Given the description of an element on the screen output the (x, y) to click on. 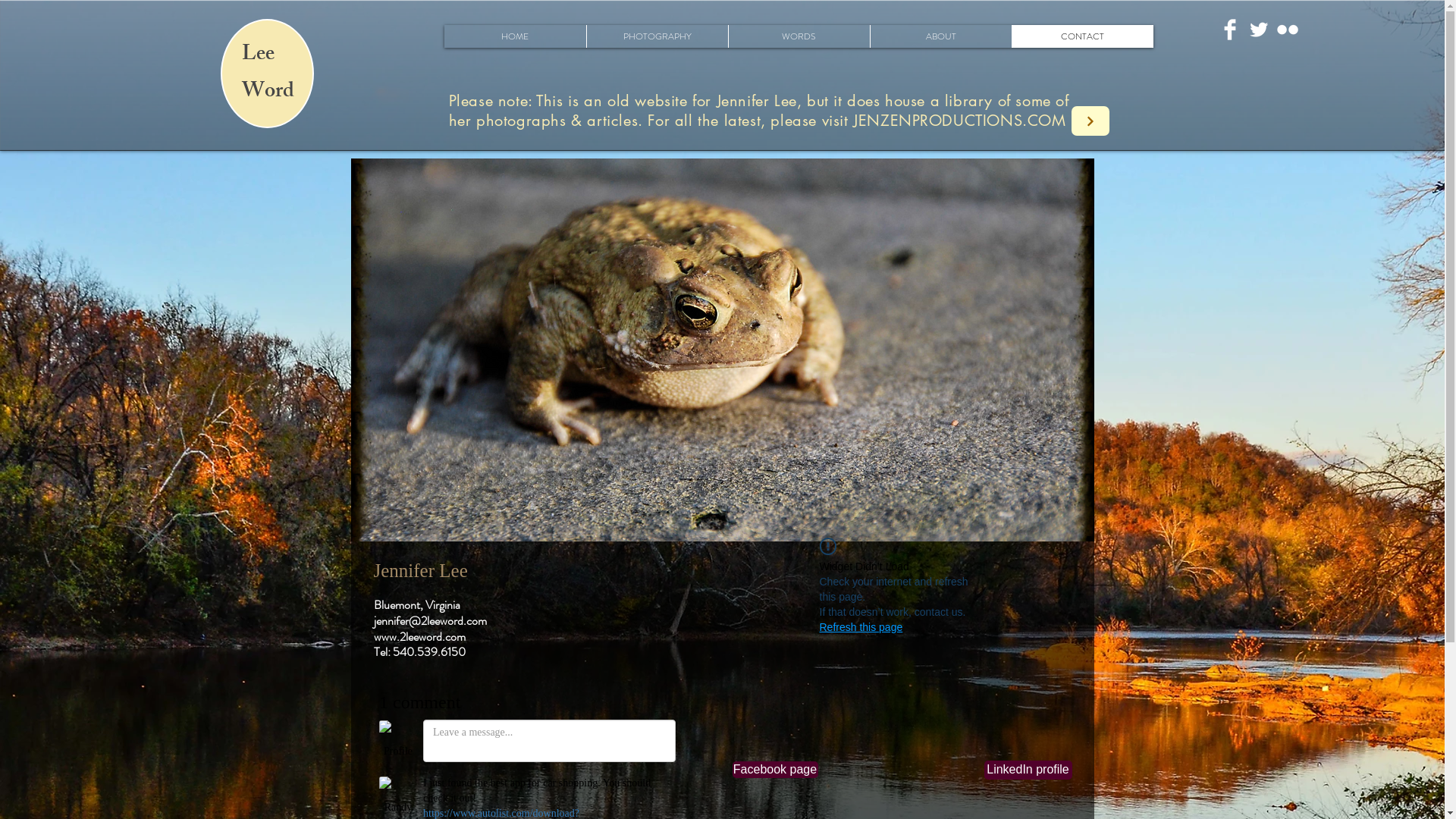
CONTACT Element type: text (1082, 36)
ABOUT Element type: text (939, 36)
PHOTOGRAPHY Element type: text (656, 36)
Refresh this page Element type: text (860, 626)
www.2leeword.com Element type: text (418, 636)
WORDS Element type: text (798, 36)
HOME Element type: text (515, 36)
jennifer@2leeword.com Element type: text (429, 620)
LinkedIn profile Element type: text (1028, 769)
Facebook page Element type: text (775, 769)
toad.jpg Element type: hover (721, 349)
Facebook Like Element type: hover (972, 571)
